Given the description of an element on the screen output the (x, y) to click on. 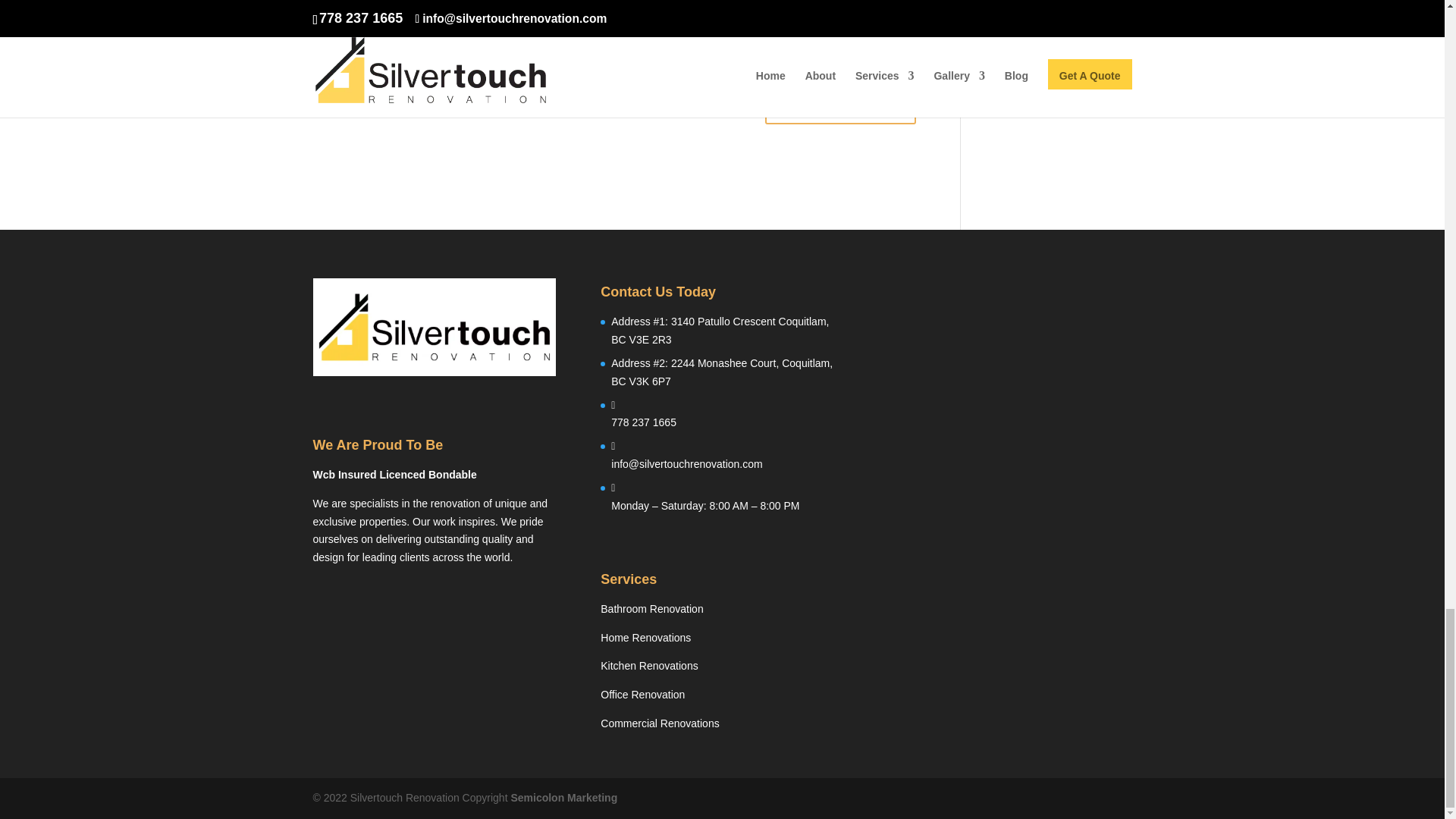
Kitchen Renovation Services (648, 665)
Bathroom Renovation (651, 608)
Submit Comment (840, 105)
Home Renovations (644, 637)
778 237 1665 (644, 422)
Commercial Renovations (659, 723)
Submit Comment (840, 105)
Commercial Property Renovations (659, 723)
Office Renovation (641, 694)
Bathroom Renovation (651, 608)
Home Renovation Service (644, 637)
Semicolon Marketing (562, 797)
Office Renovation  (641, 694)
Kitchen Renovations (648, 665)
yes (319, 64)
